Given the description of an element on the screen output the (x, y) to click on. 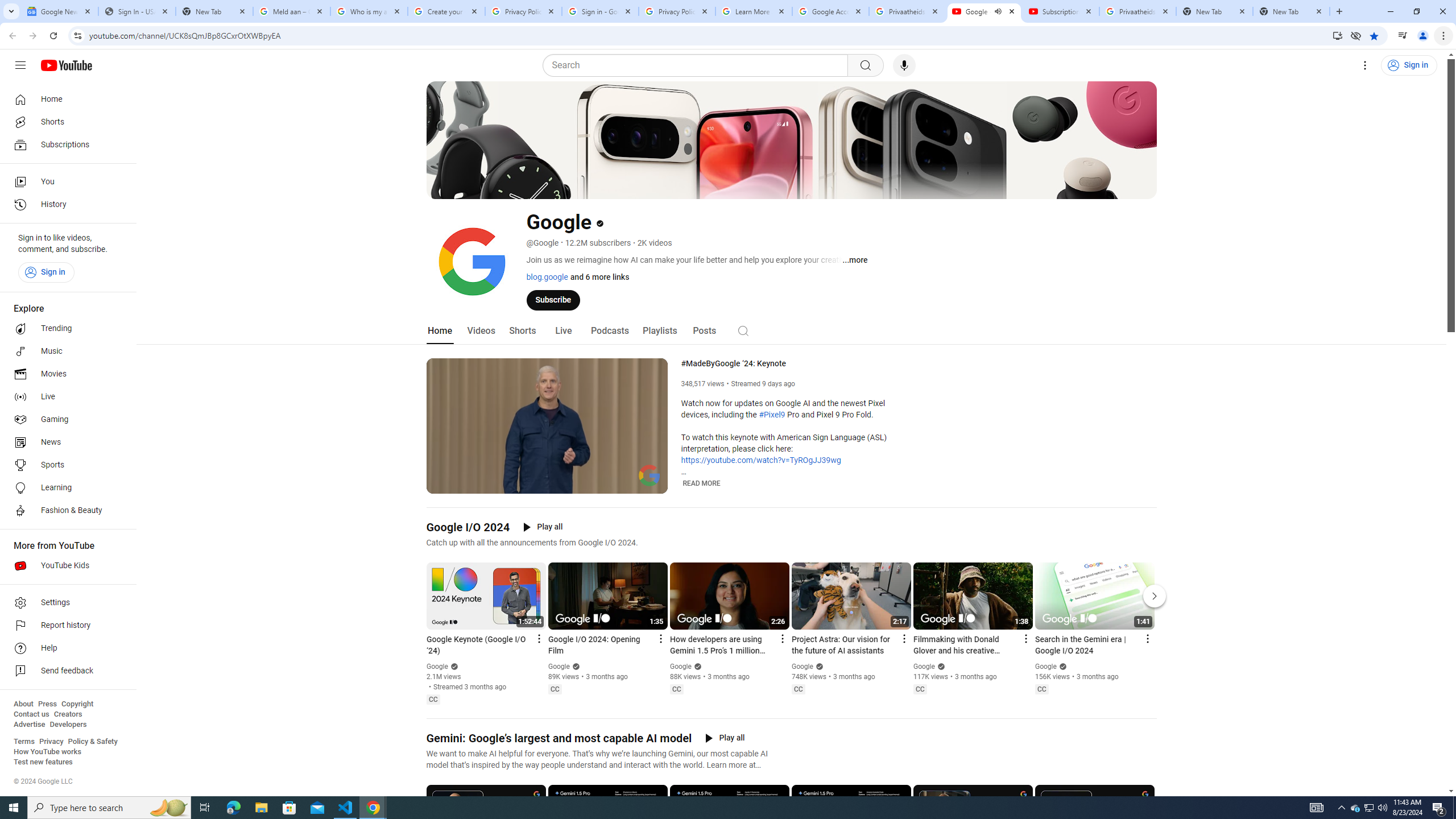
Advertise (29, 724)
and 6 more links (598, 276)
Subtitles/closed captions unavailable (609, 483)
Google News (59, 11)
Report history (64, 625)
